Given the description of an element on the screen output the (x, y) to click on. 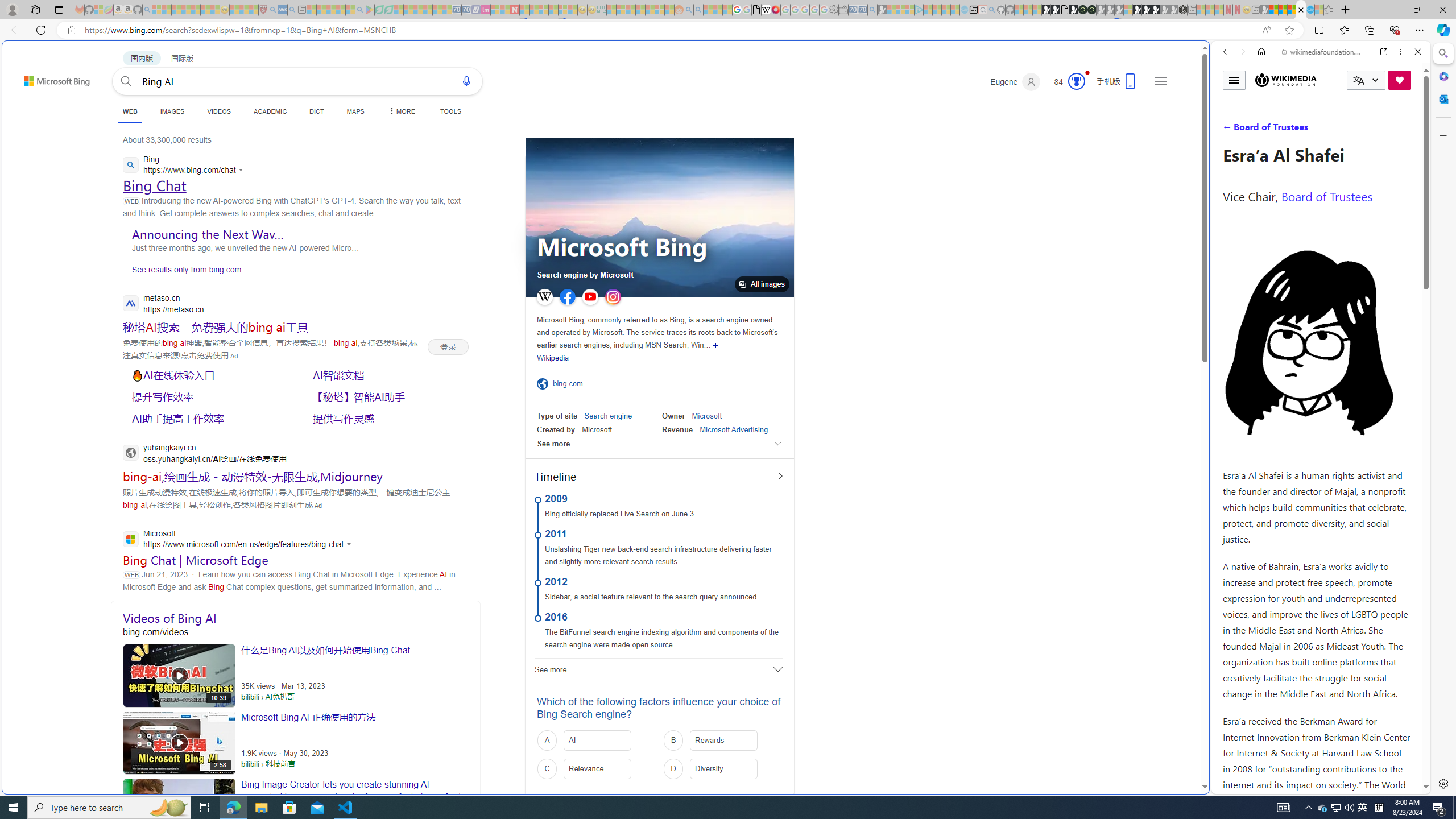
Bing Real Estate - Home sales and rental listings - Sleeping (872, 9)
Preferences (1403, 129)
Forward (1242, 51)
SERP,5525 (252, 476)
Microsoft Start Gaming - Sleeping (881, 9)
Web scope (1230, 102)
ACADEMIC (269, 111)
Dropdown Menu (400, 111)
Search button (126, 80)
